Given the description of an element on the screen output the (x, y) to click on. 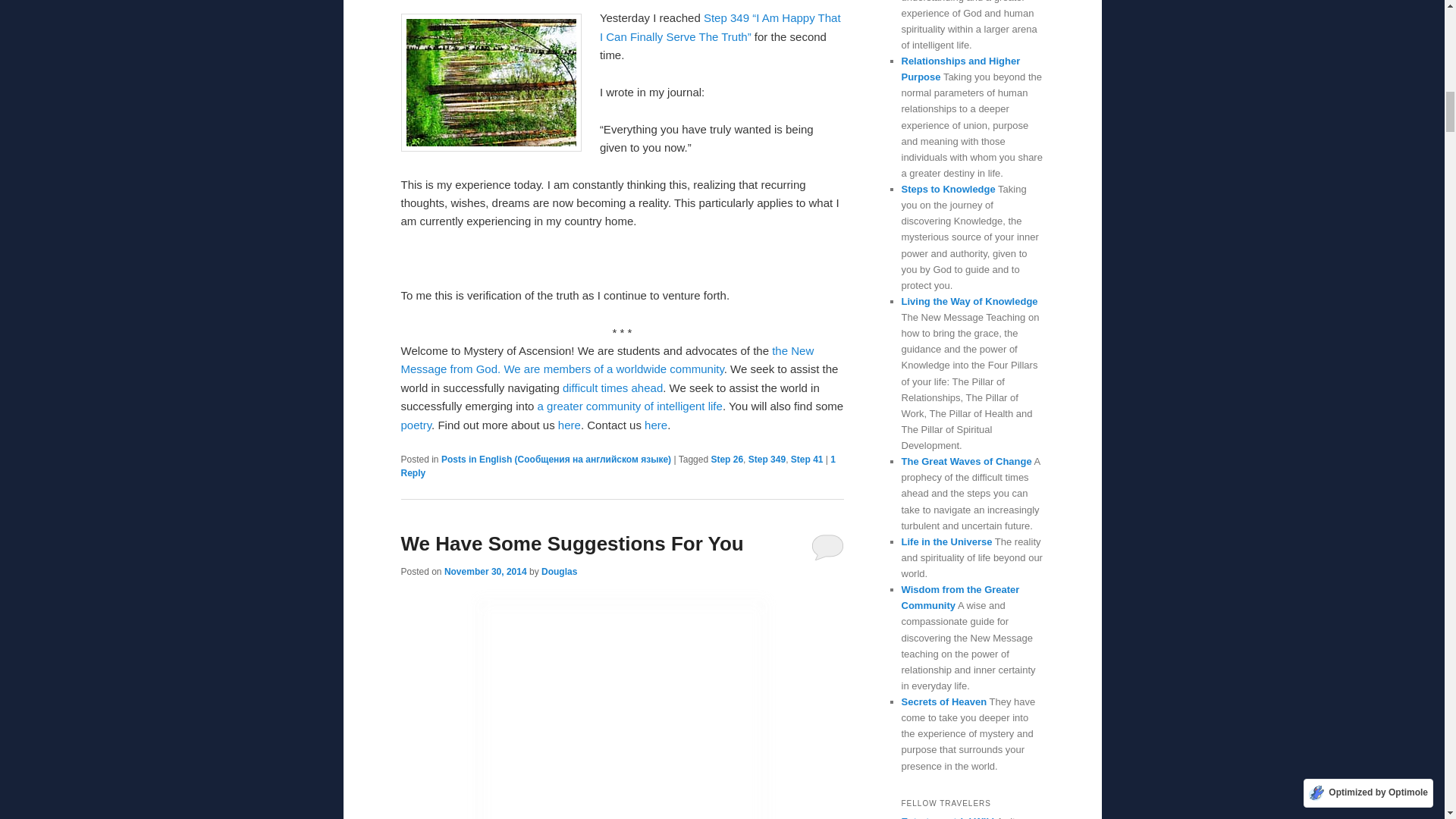
The Great Waves of Change (612, 387)
11:14 PM (485, 571)
the New Message from God. We are members of a (606, 359)
Step 41 (807, 459)
November 30, 2014 (485, 571)
The Greater Community (629, 405)
1 Reply (617, 466)
Mystery of Ascension: Contact (655, 424)
Mystery of Ascension: About (568, 424)
worldwide community (669, 368)
The Worldwide Community of God's New Message (669, 368)
Step 349 (767, 459)
We Have Some Suggestions For You (571, 543)
poetry (415, 424)
Step 26 (726, 459)
